Given the description of an element on the screen output the (x, y) to click on. 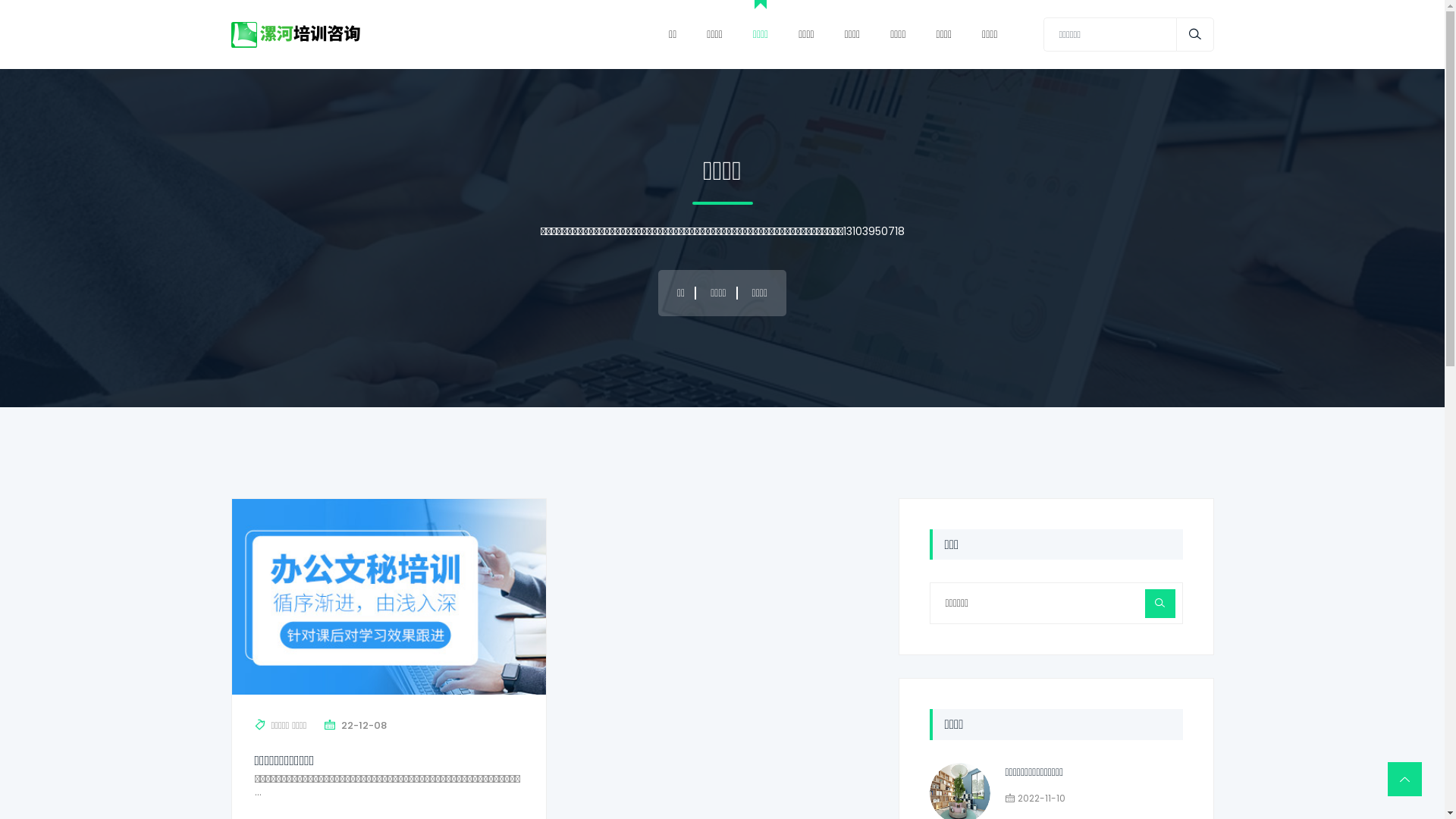
22-12-08 Element type: text (363, 725)
